Given the description of an element on the screen output the (x, y) to click on. 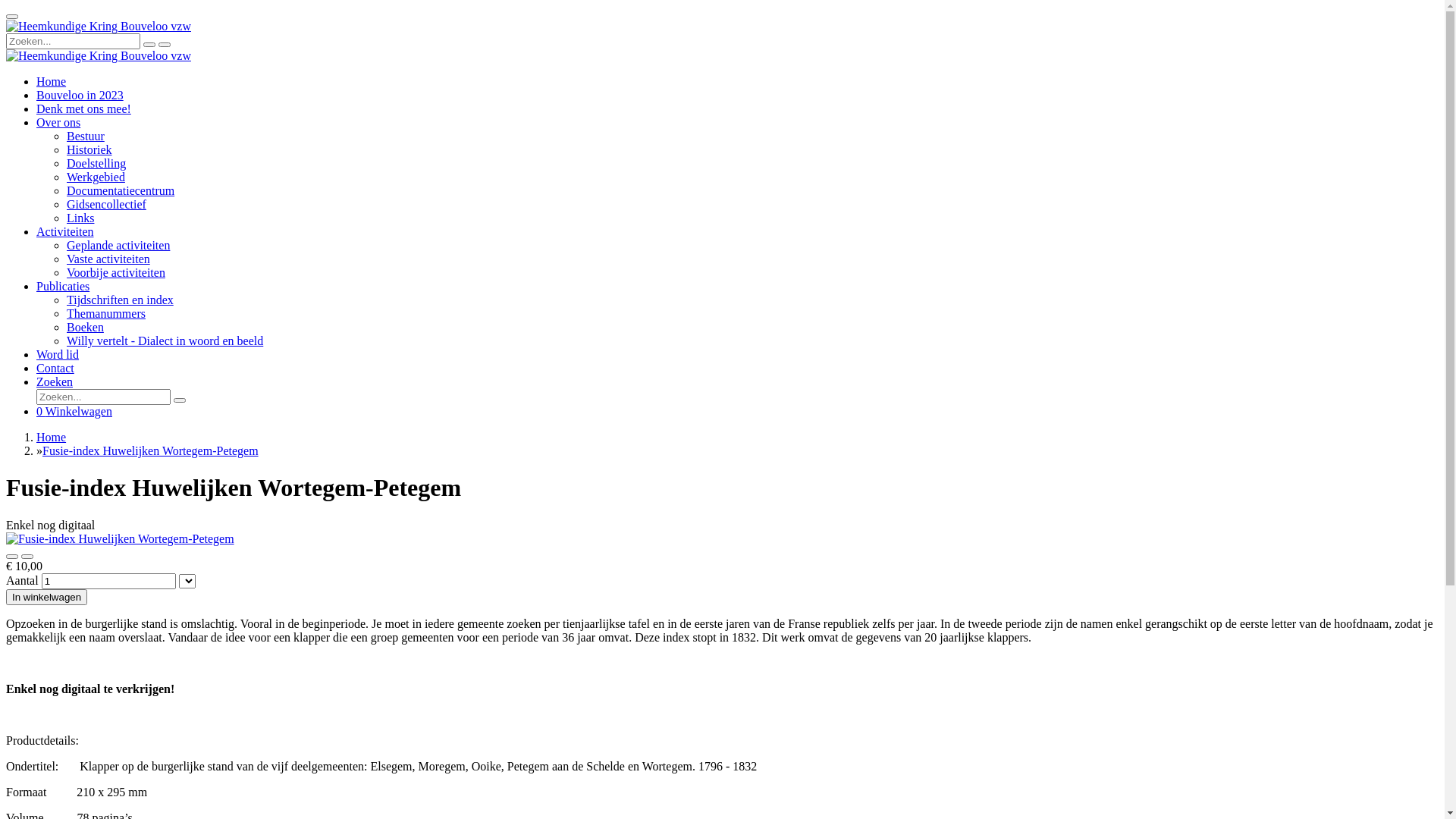
In winkelwagen Element type: text (46, 597)
Fusie-index Huwelijken Wortegem-Petegem Element type: text (150, 450)
Heemkundige Kring Bouveloo vzw Element type: hover (98, 26)
Doelstelling Element type: text (95, 162)
Willy vertelt - Dialect in woord en beeld Element type: text (164, 340)
Heemkundige Kring Bouveloo vzw Element type: hover (98, 55)
Contact Element type: text (55, 367)
Denk met ons mee! Element type: text (83, 108)
Voorbije activiteiten Element type: text (115, 272)
0 Winkelwagen Element type: text (74, 410)
Vaste activiteiten Element type: text (108, 258)
Historiek Element type: text (89, 149)
Home Element type: text (50, 436)
Publicaties Element type: text (62, 285)
Zoeken Element type: text (54, 381)
Gidsencollectief Element type: text (106, 203)
Bouveloo in 2023 Element type: text (79, 94)
Activiteiten Element type: text (65, 231)
Links Element type: text (80, 217)
Geplande activiteiten Element type: text (117, 244)
Over ons Element type: text (58, 122)
Home Element type: text (50, 81)
Word lid Element type: text (57, 354)
Boeken Element type: text (84, 326)
Tijdschriften en index Element type: text (119, 299)
Themanummers Element type: text (105, 313)
Werkgebied Element type: text (95, 176)
Documentatiecentrum Element type: text (120, 190)
Bestuur Element type: text (85, 135)
